Given the description of an element on the screen output the (x, y) to click on. 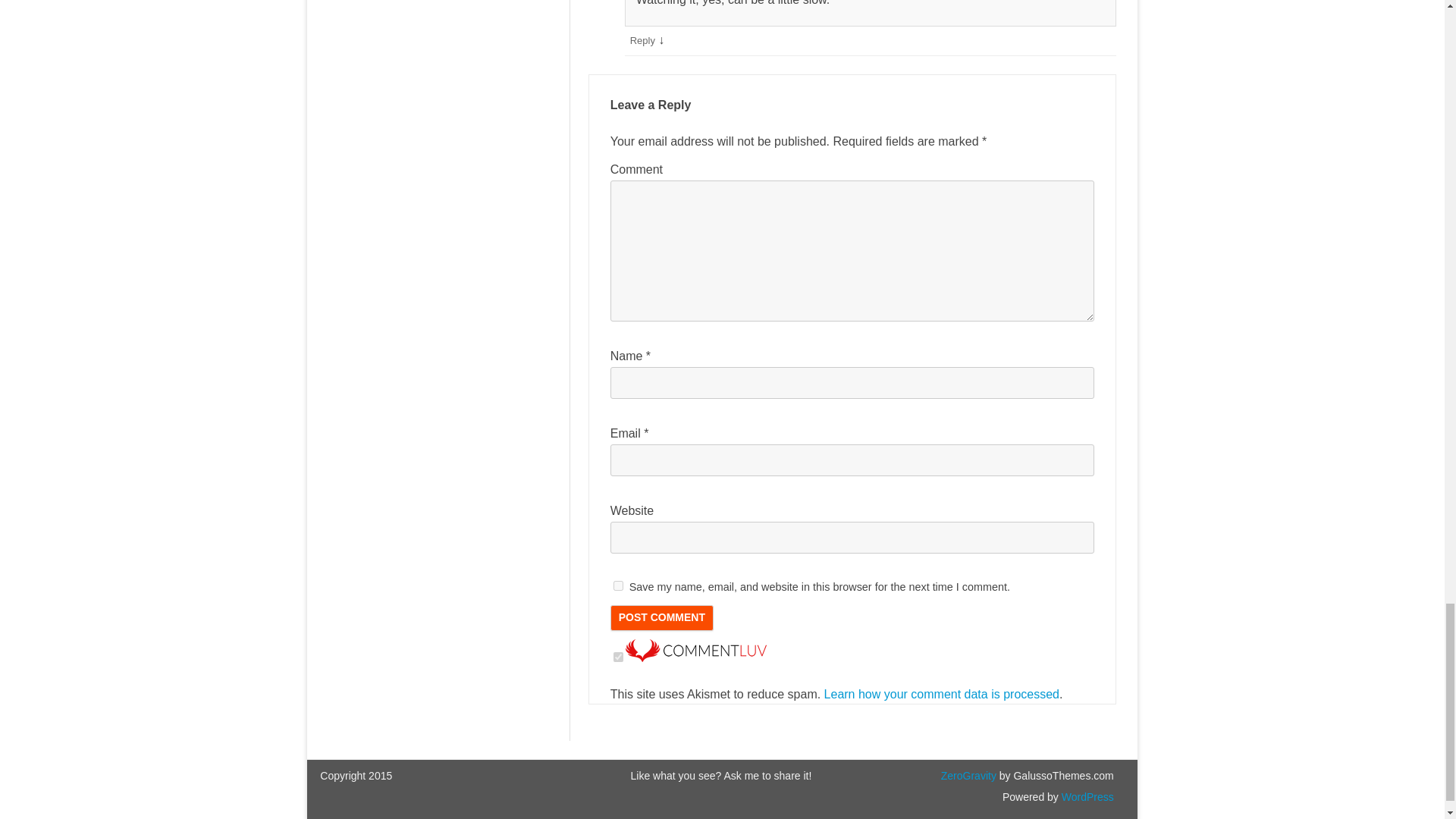
CommentLuv is enabled (696, 657)
Post Comment (661, 617)
on (617, 656)
Semantic Personal Publishing Platform (1085, 797)
yes (617, 585)
